Given the description of an element on the screen output the (x, y) to click on. 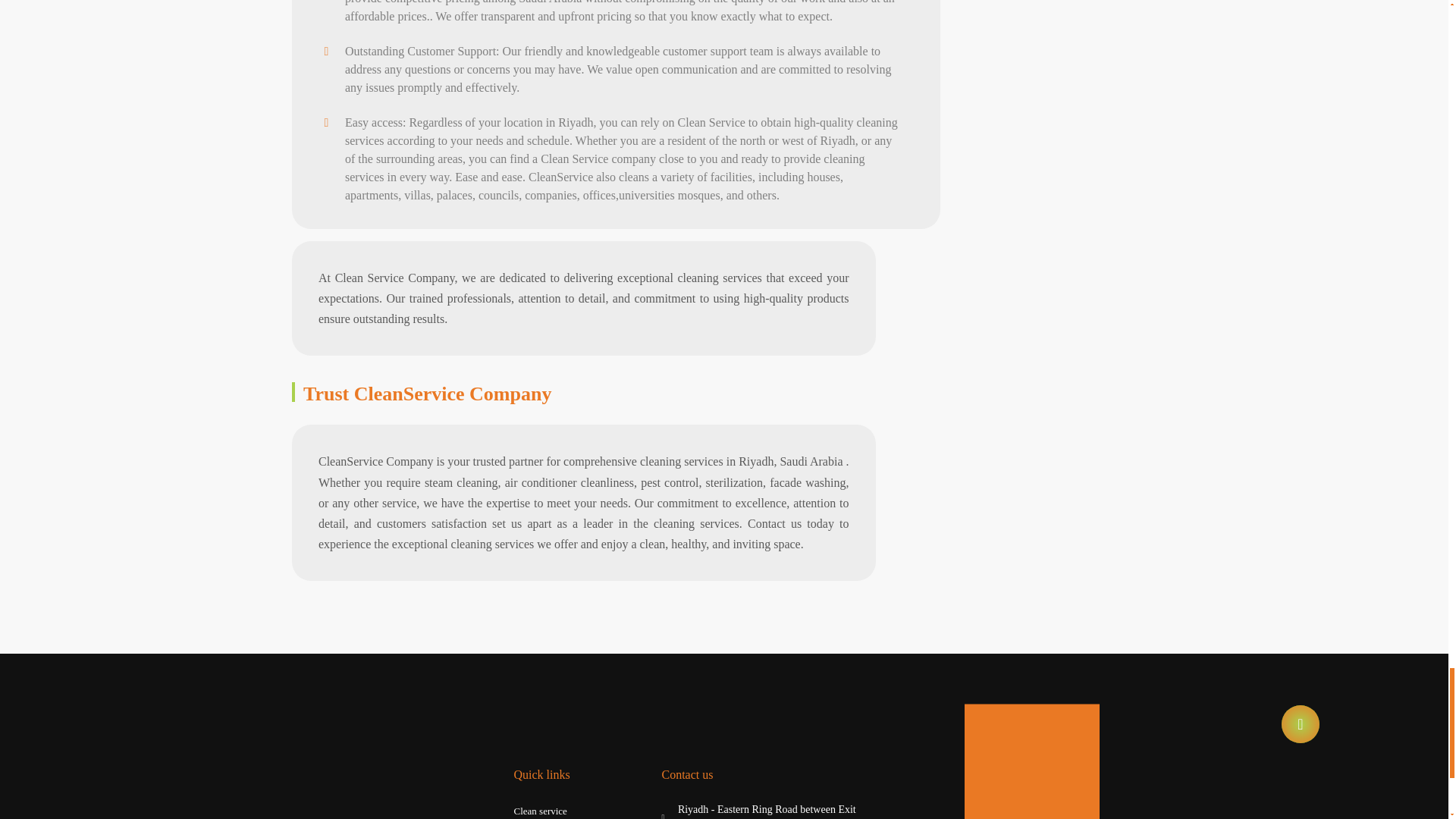
0544244445 (760, 604)
Gallery (528, 632)
About (525, 611)
Riyadh - Eastern Ring Road between Exit 12 and 11 (760, 572)
Services (530, 589)
Clean service (540, 566)
Clients (527, 654)
